Given the description of an element on the screen output the (x, y) to click on. 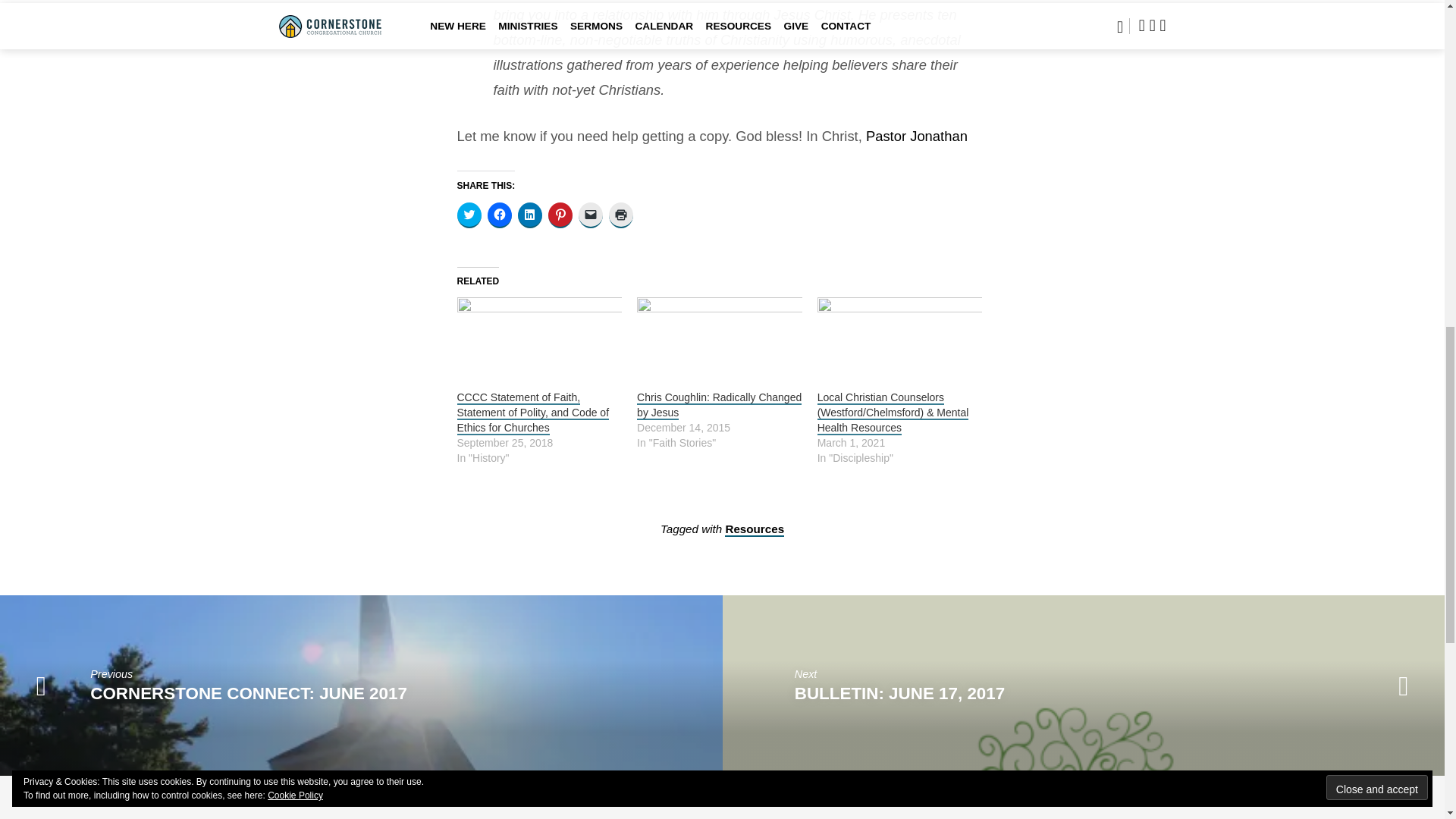
Click to print (619, 215)
Click to share on Facebook (498, 215)
Click to share on LinkedIn (528, 215)
Click to share on Pinterest (559, 215)
Click to email a link to a friend (590, 215)
Click to share on Twitter (468, 215)
